Given the description of an element on the screen output the (x, y) to click on. 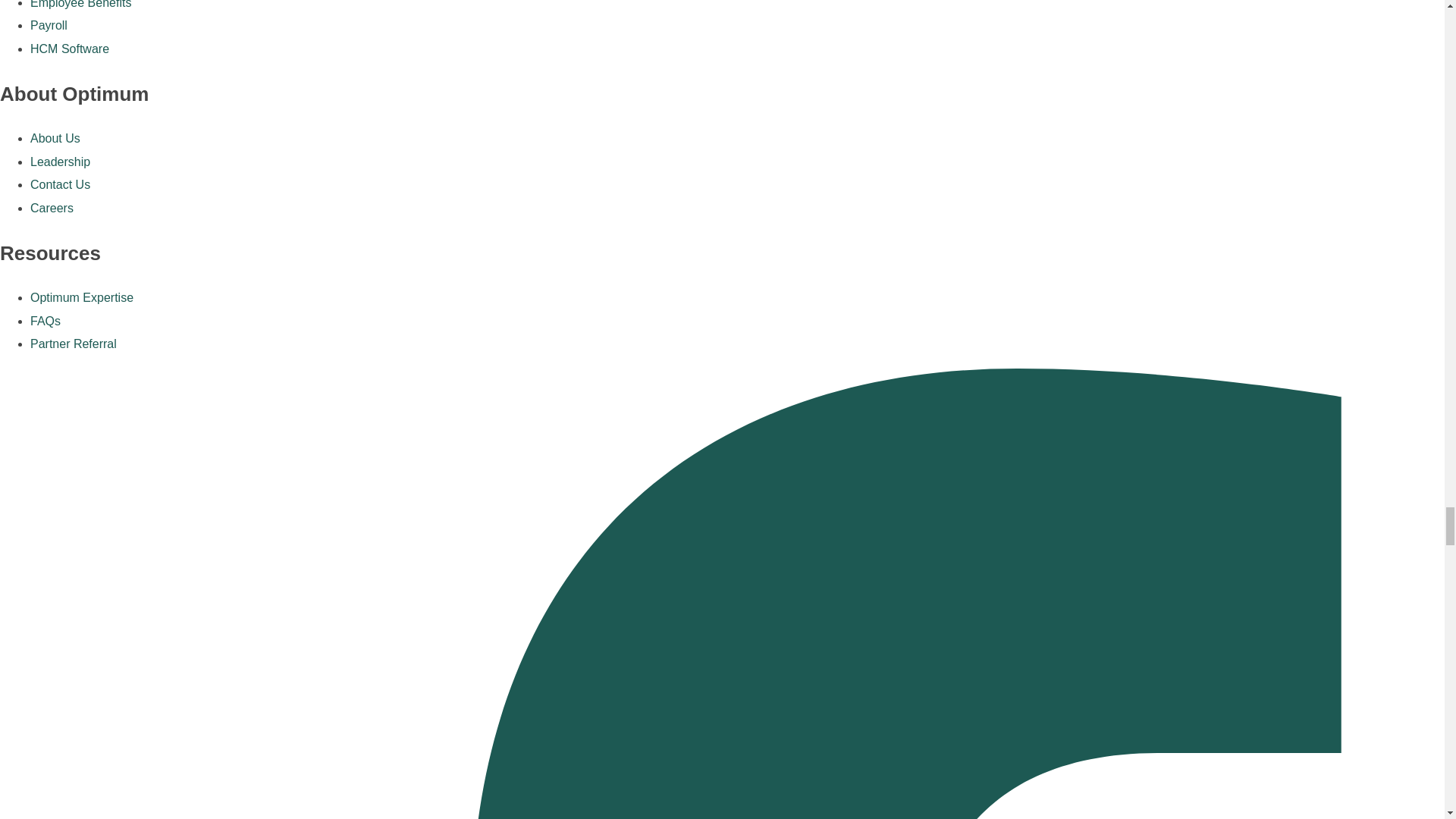
HCM Software (69, 48)
Payroll (48, 24)
Employee Benefits (80, 4)
